Given the description of an element on the screen output the (x, y) to click on. 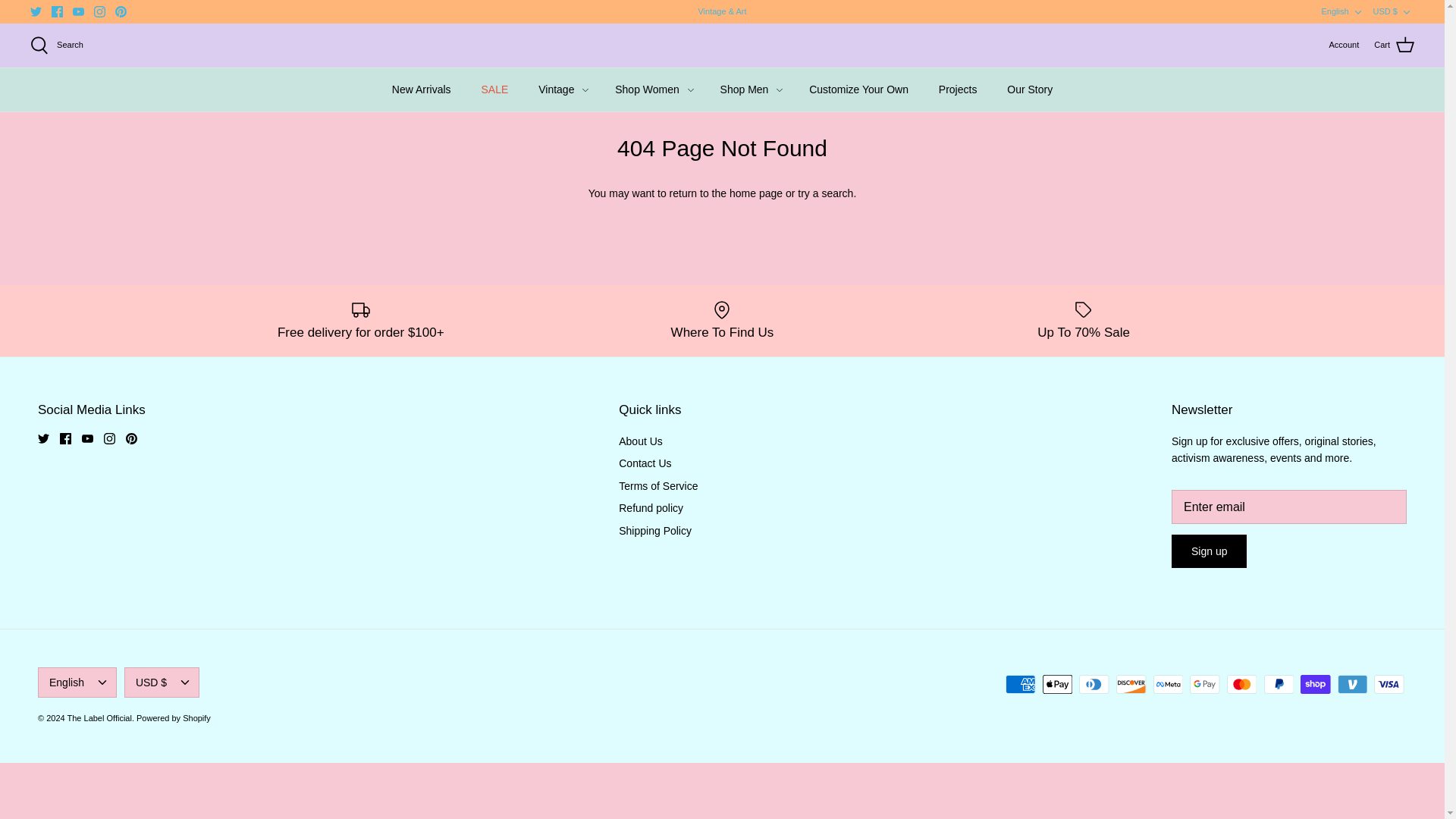
Instagram (99, 11)
Facebook (65, 438)
Twitter (36, 11)
Pinterest (120, 11)
Youtube (87, 438)
Facebook (56, 11)
The Label Official (722, 45)
Twitter (43, 438)
Youtube (78, 11)
Instagram (99, 11)
Pinterest (130, 438)
Pinterest (120, 11)
Toggle menu (585, 90)
Facebook (56, 11)
Youtube (78, 11)
